Given the description of an element on the screen output the (x, y) to click on. 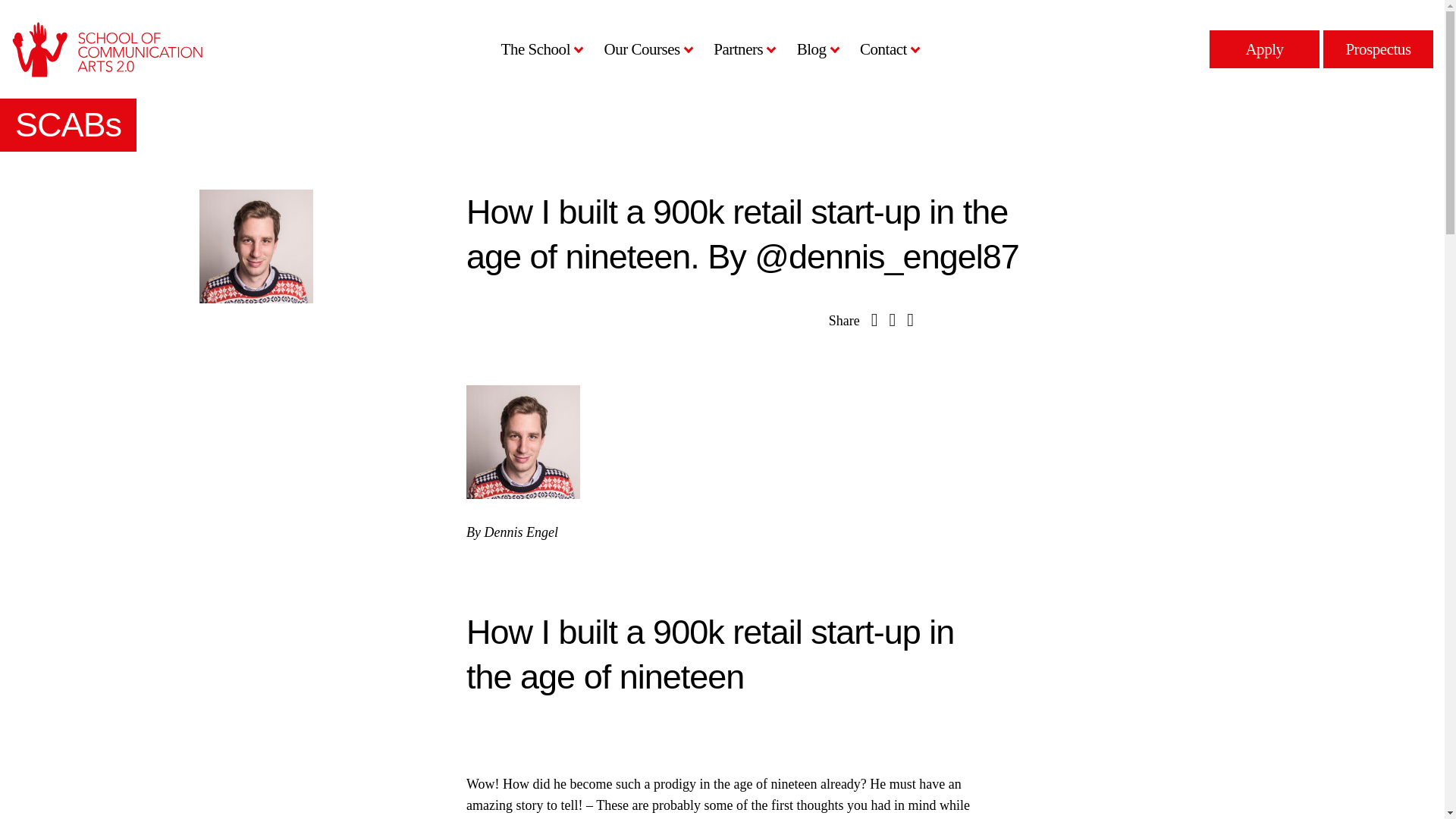
Apply (1264, 48)
Blog (814, 49)
Partners (741, 49)
Contact (887, 49)
The School (539, 49)
Our Courses (645, 49)
Prospectus (1377, 48)
